Given the description of an element on the screen output the (x, y) to click on. 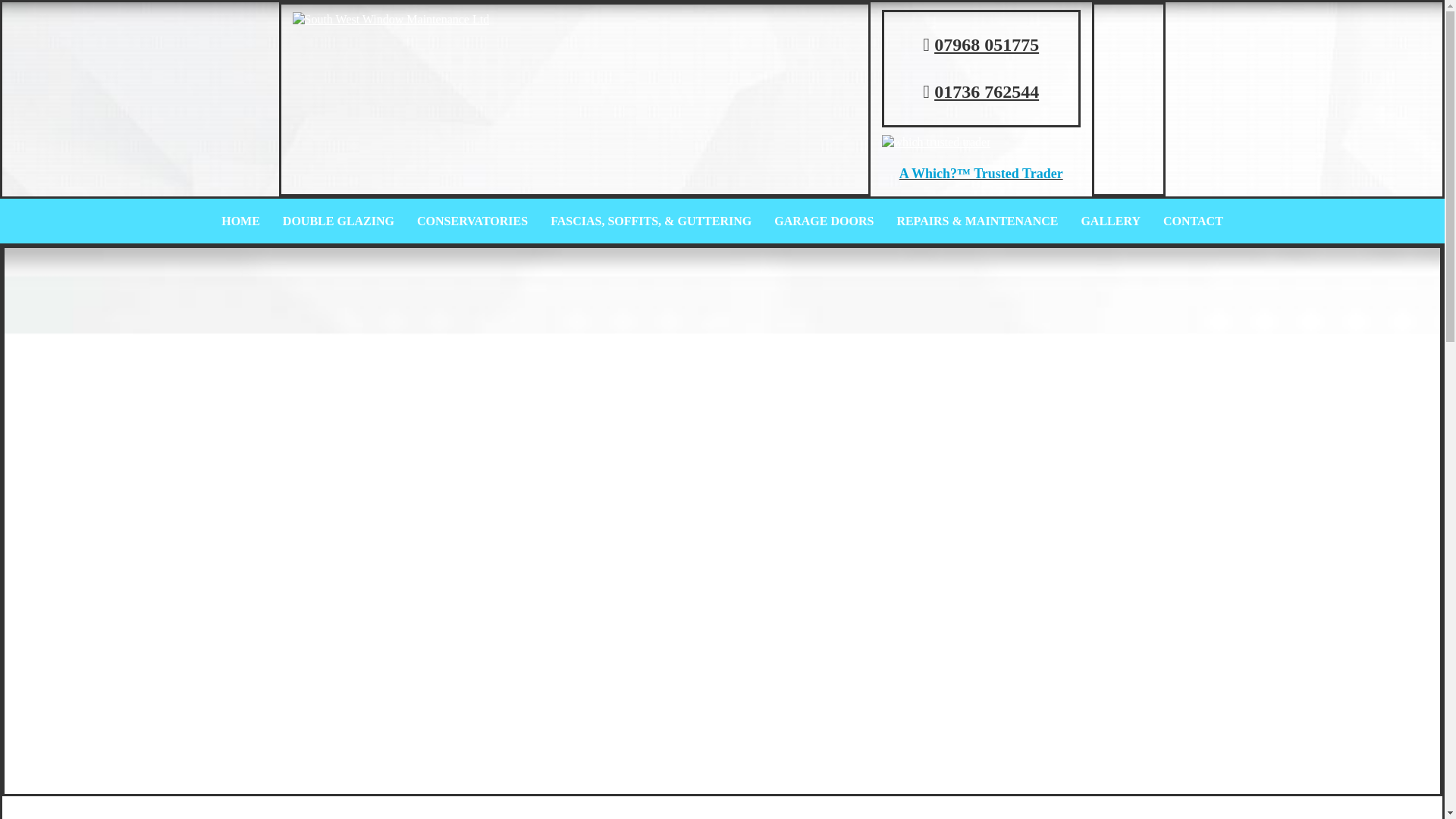
DOUBLE GLAZING (338, 220)
HOME (239, 220)
01736 762544 (986, 91)
GALLERY (1109, 220)
GARAGE DOORS (823, 220)
CONSERVATORIES (472, 220)
07968 051775 (986, 44)
CONTACT (1192, 220)
